Given the description of an element on the screen output the (x, y) to click on. 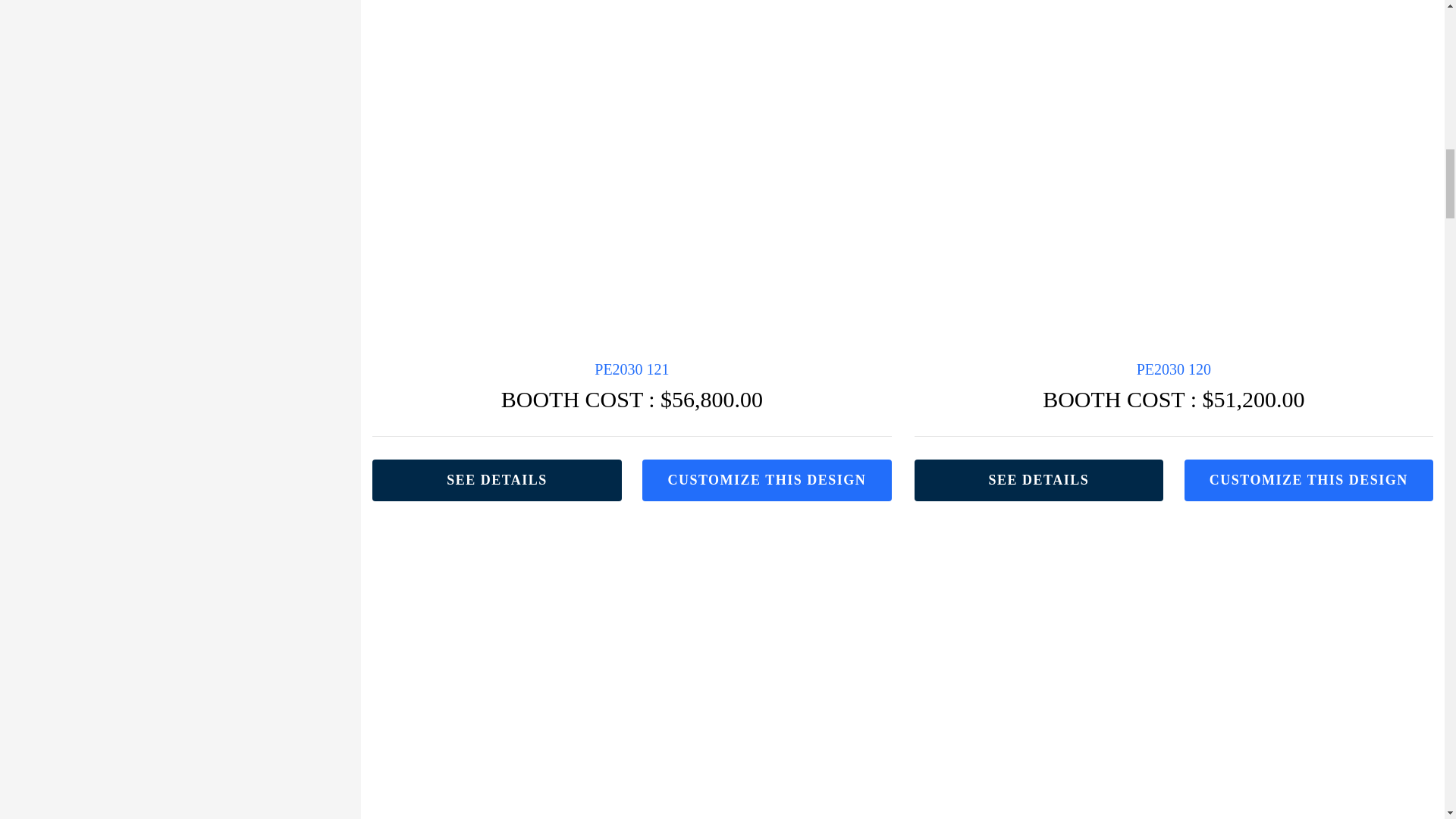
CUSTOMIZE THIS DESIGN (1309, 480)
SEE DETAILS (496, 480)
CUSTOMIZE THIS DESIGN (766, 480)
SEE DETAILS (1038, 480)
